Given the description of an element on the screen output the (x, y) to click on. 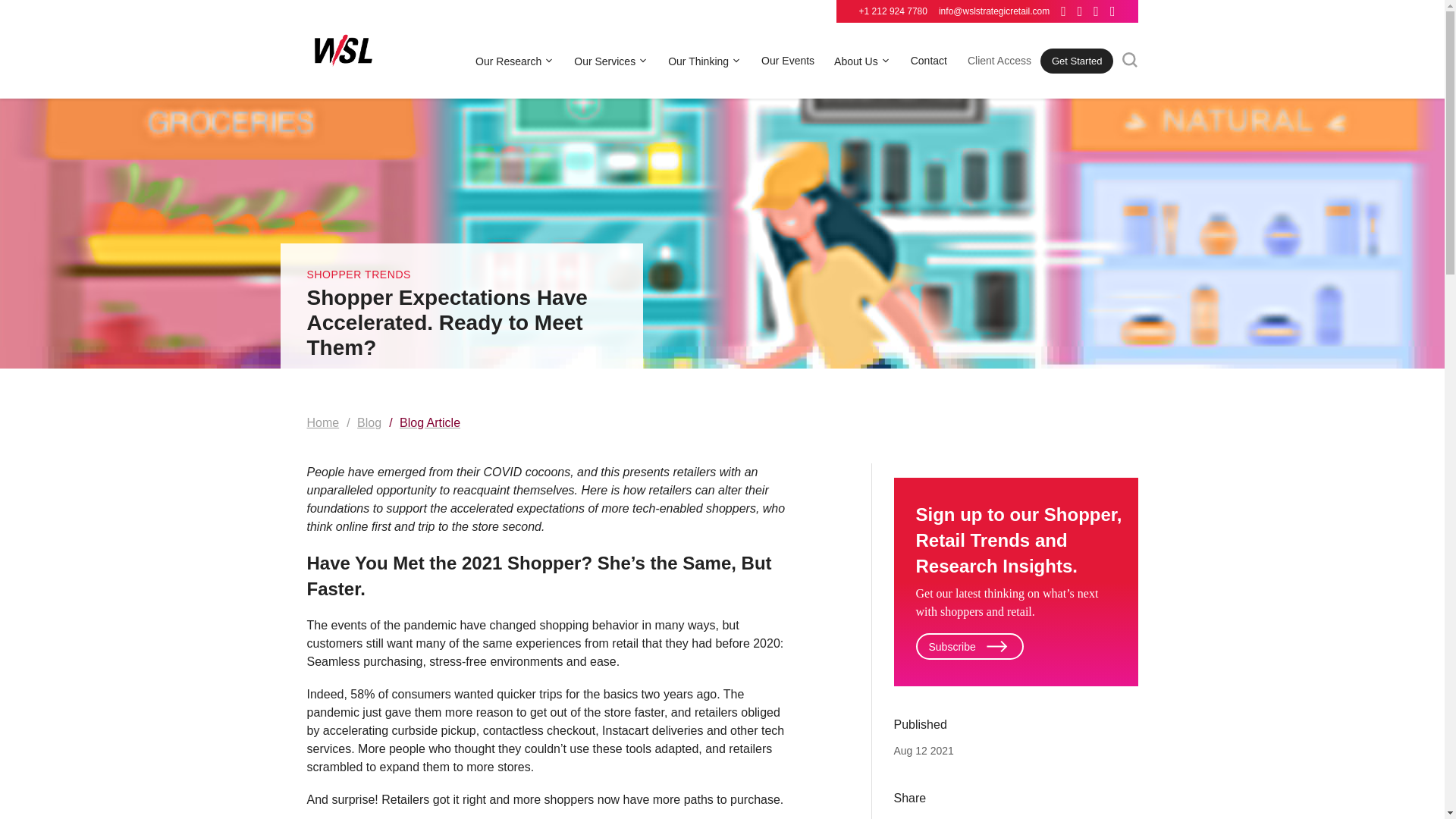
WSL (341, 51)
Our Research (515, 60)
About Us (862, 60)
Our Services (610, 60)
WSL (341, 50)
Our Events (787, 60)
Get Started (1077, 60)
Client Access (999, 60)
Our Thinking (704, 60)
